Given the description of an element on the screen output the (x, y) to click on. 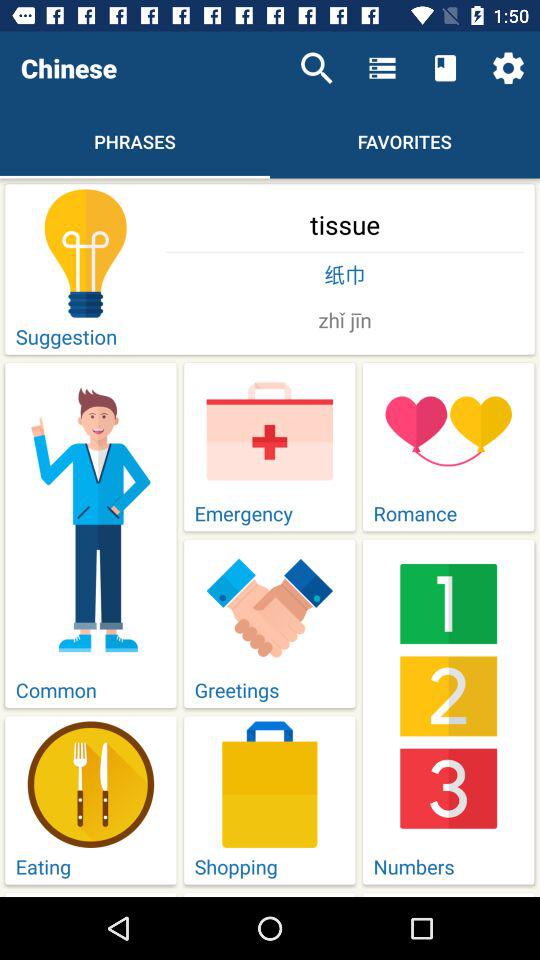
select icon above tissue (508, 67)
